Given the description of an element on the screen output the (x, y) to click on. 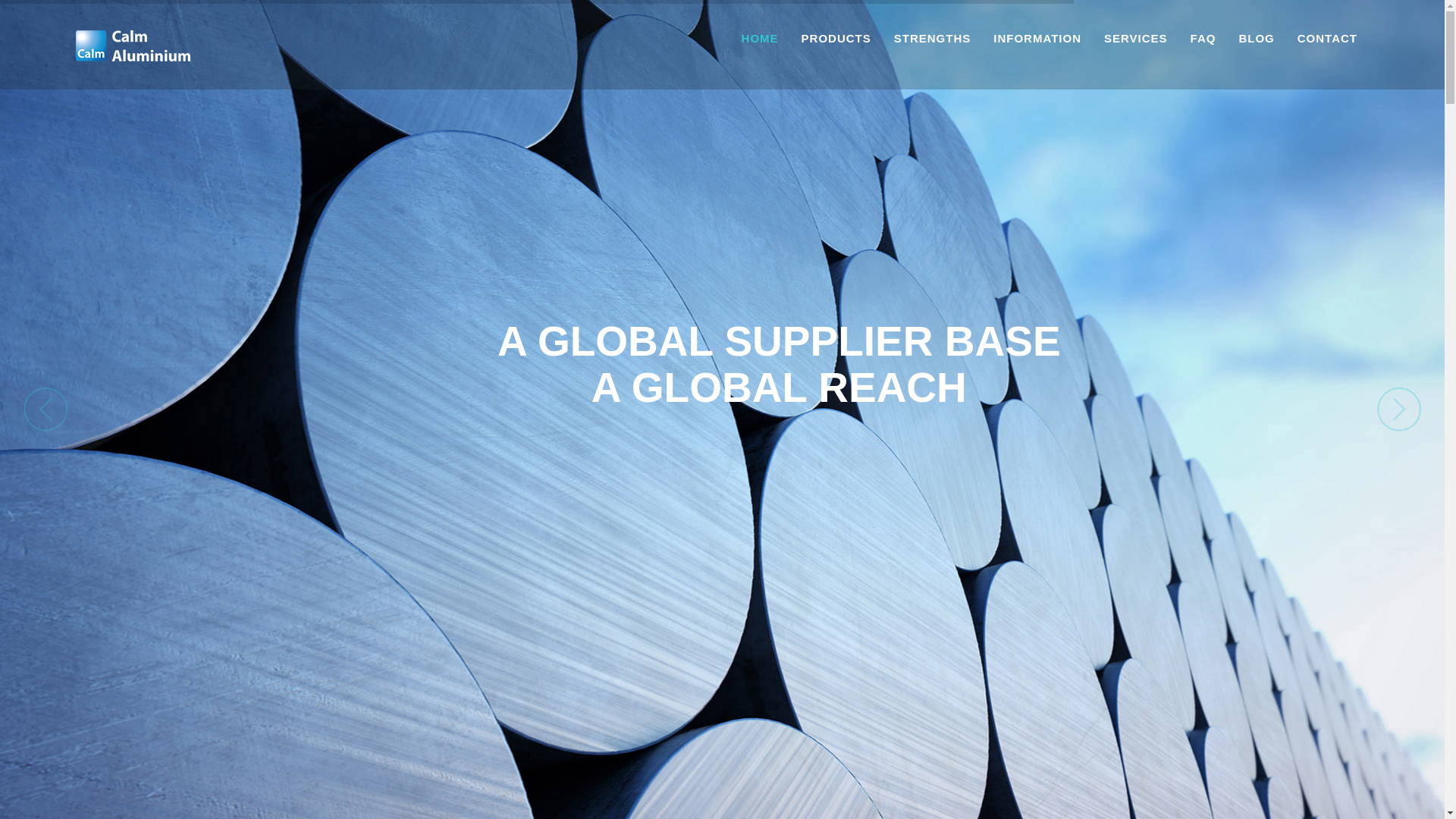
PRODUCTS (836, 38)
SERVICES (1136, 38)
STRENGTHS (932, 38)
INFORMATION (1037, 38)
CONTACT (1326, 38)
